Given the description of an element on the screen output the (x, y) to click on. 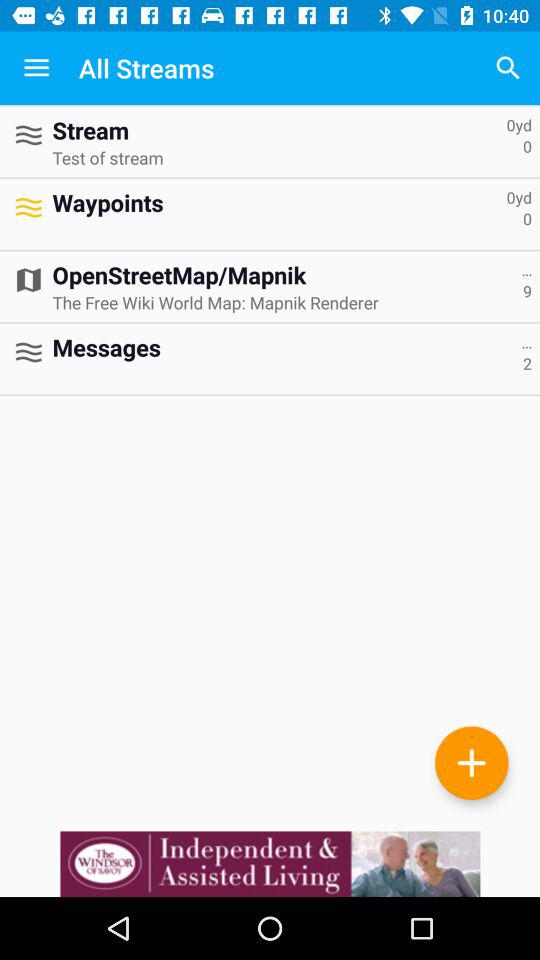
add stream (471, 762)
